Given the description of an element on the screen output the (x, y) to click on. 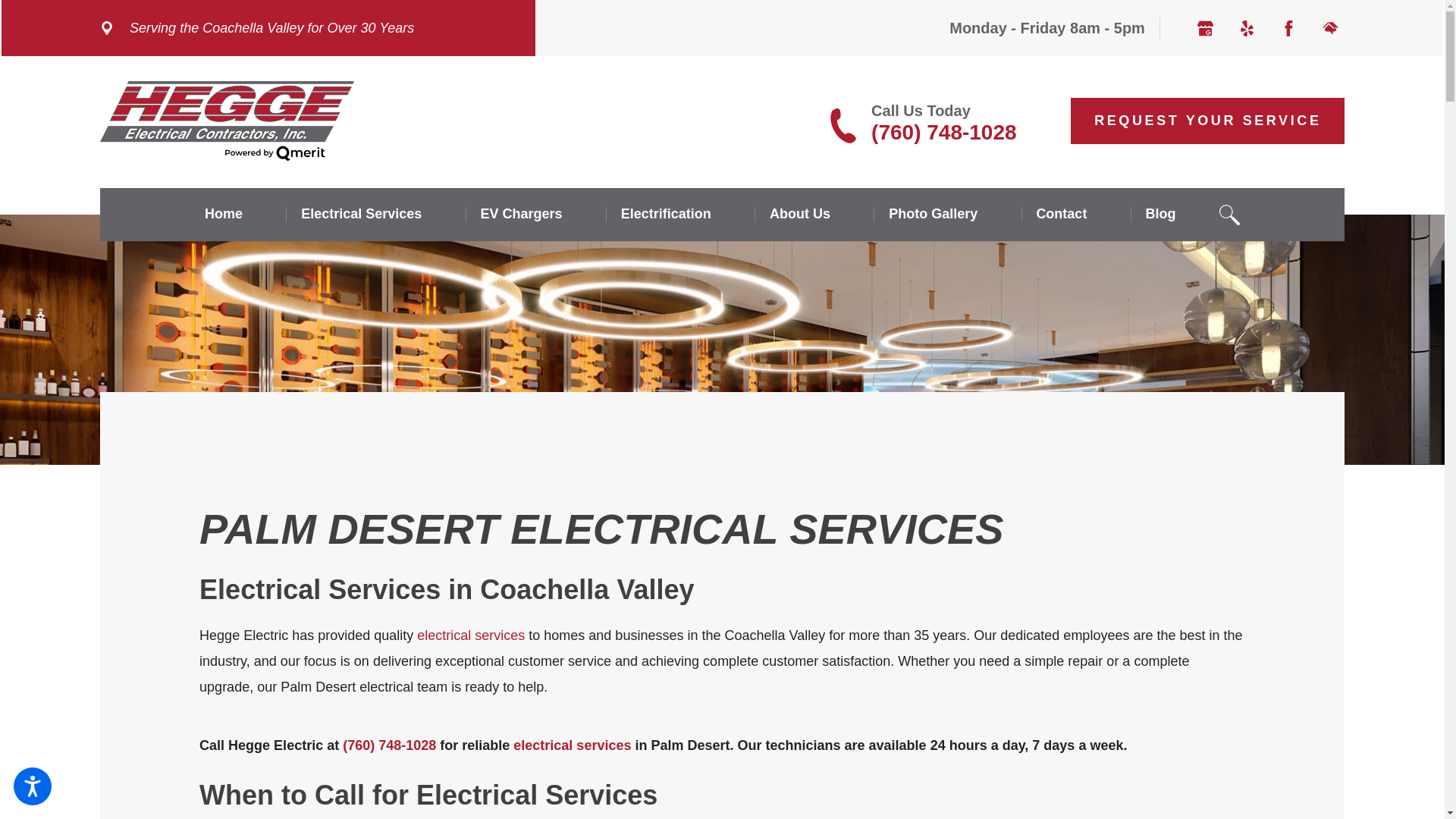
About Us (815, 214)
Search Our Site (1230, 214)
Contact (1075, 214)
Yelp (1246, 28)
Facebook (1287, 28)
Google Business Profile (1204, 28)
Electrification (681, 214)
Hegge Electrical Contractor (226, 120)
Photo Gallery (947, 214)
Blog (1175, 214)
